Given the description of an element on the screen output the (x, y) to click on. 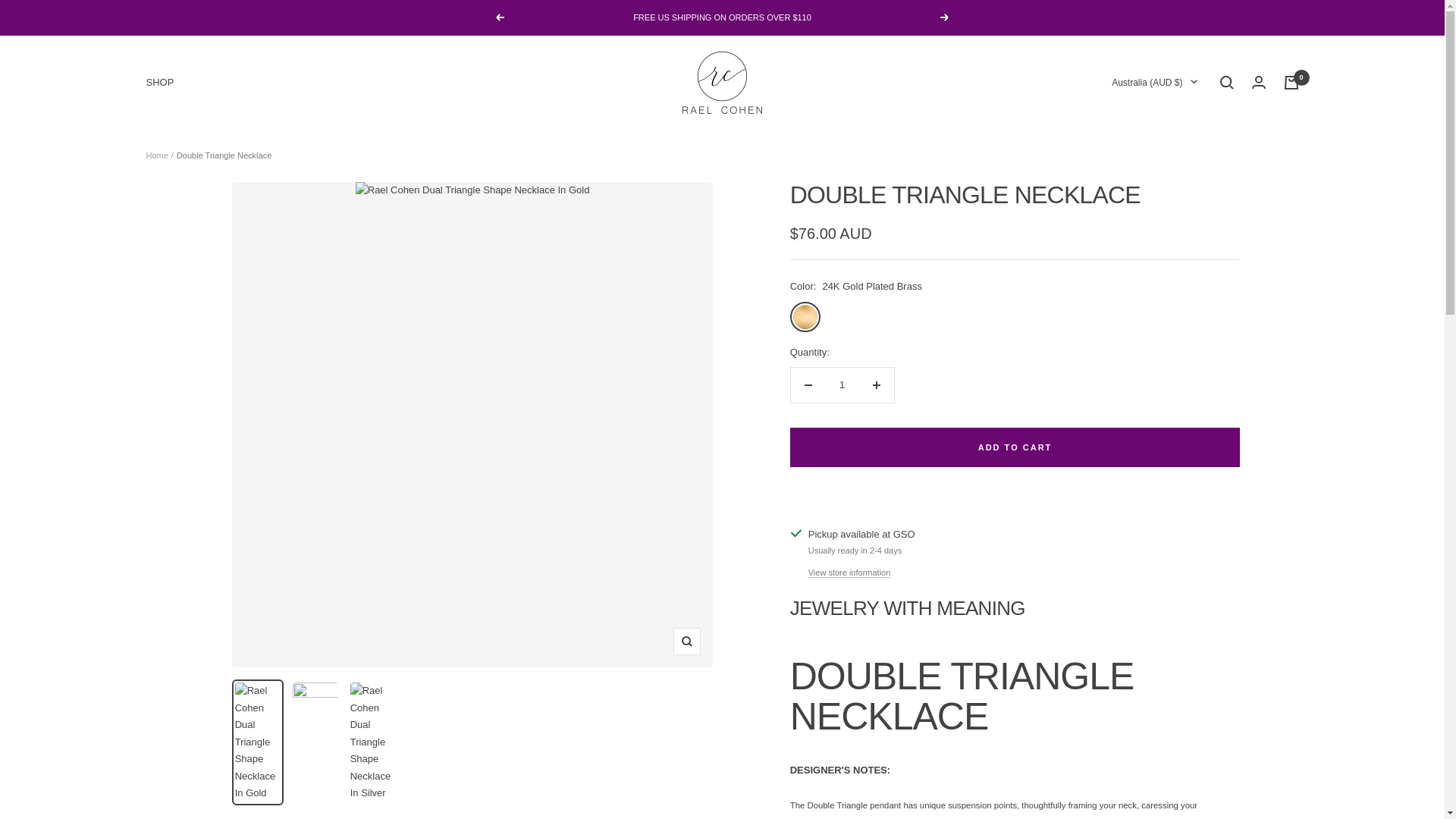
Rael Cohen Jewelry (721, 82)
BM (1062, 647)
AI (1062, 266)
BB (1062, 535)
AD (1062, 221)
BS (1062, 467)
AX (1062, 154)
AM (1062, 334)
BD (1062, 512)
AG (1062, 289)
